Given the description of an element on the screen output the (x, y) to click on. 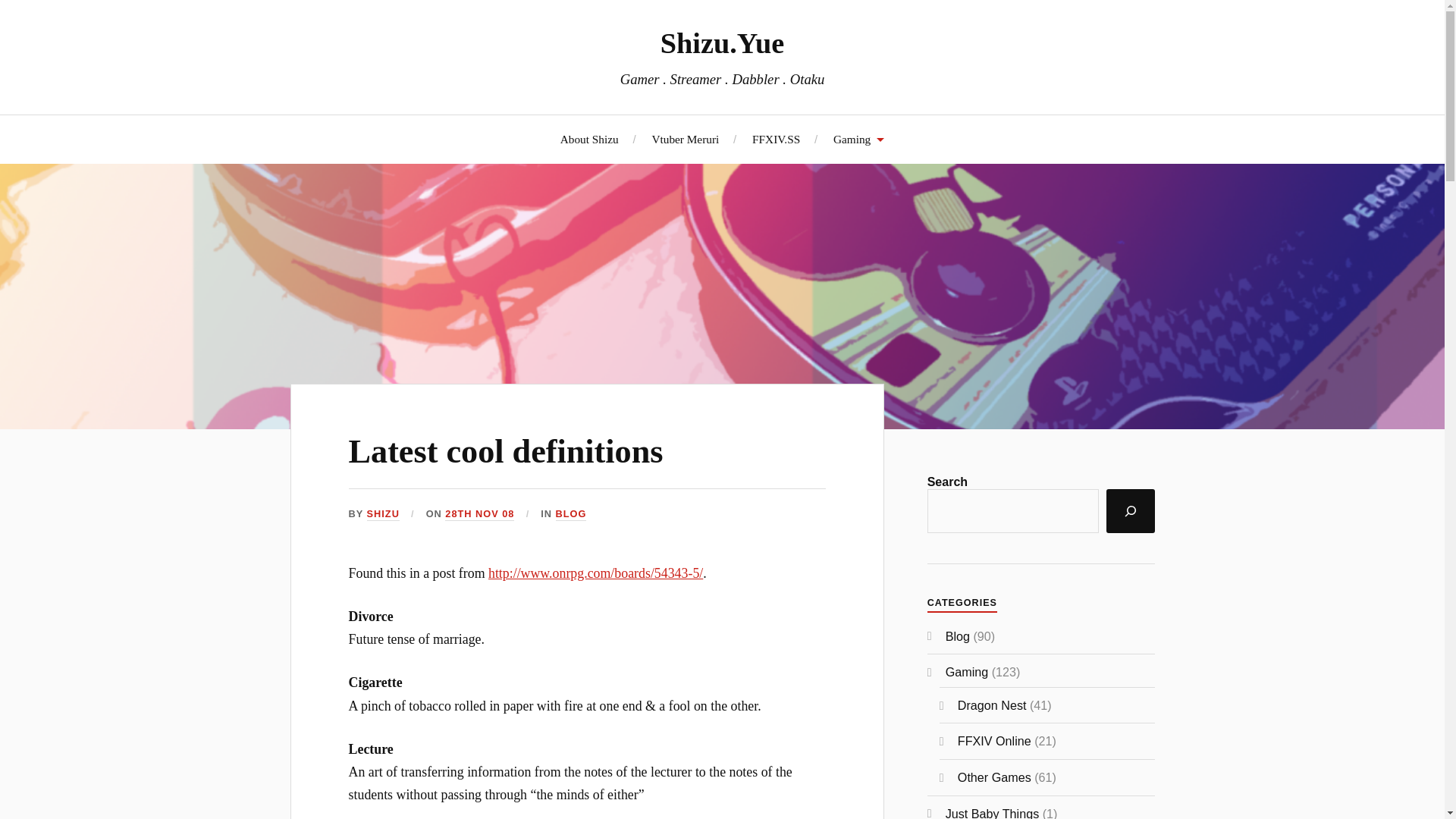
Blog (956, 635)
Gaming (966, 671)
About Shizu (589, 138)
Latest cool definitions (506, 451)
Shizu.Yue (722, 42)
Posts by Shizu (382, 513)
FFXIV Online (994, 740)
Gaming (857, 138)
Just Baby Things (991, 812)
BLOG (570, 513)
SHIZU (382, 513)
28TH NOV 08 (479, 513)
Other Games (994, 776)
Dragon Nest (992, 704)
FFXIV.SS (775, 138)
